Given the description of an element on the screen output the (x, y) to click on. 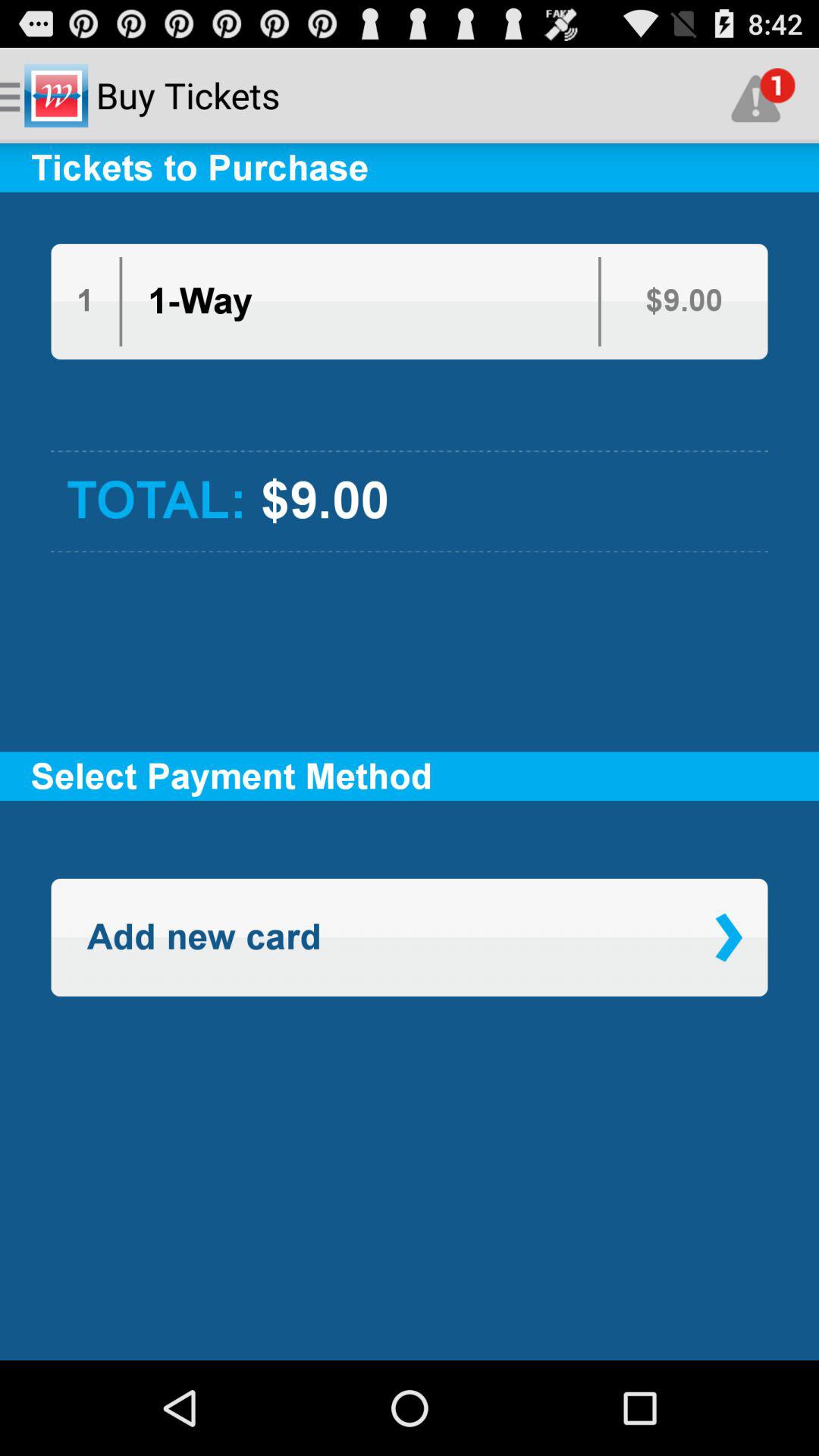
select app to the right of the buy tickets item (763, 95)
